Given the description of an element on the screen output the (x, y) to click on. 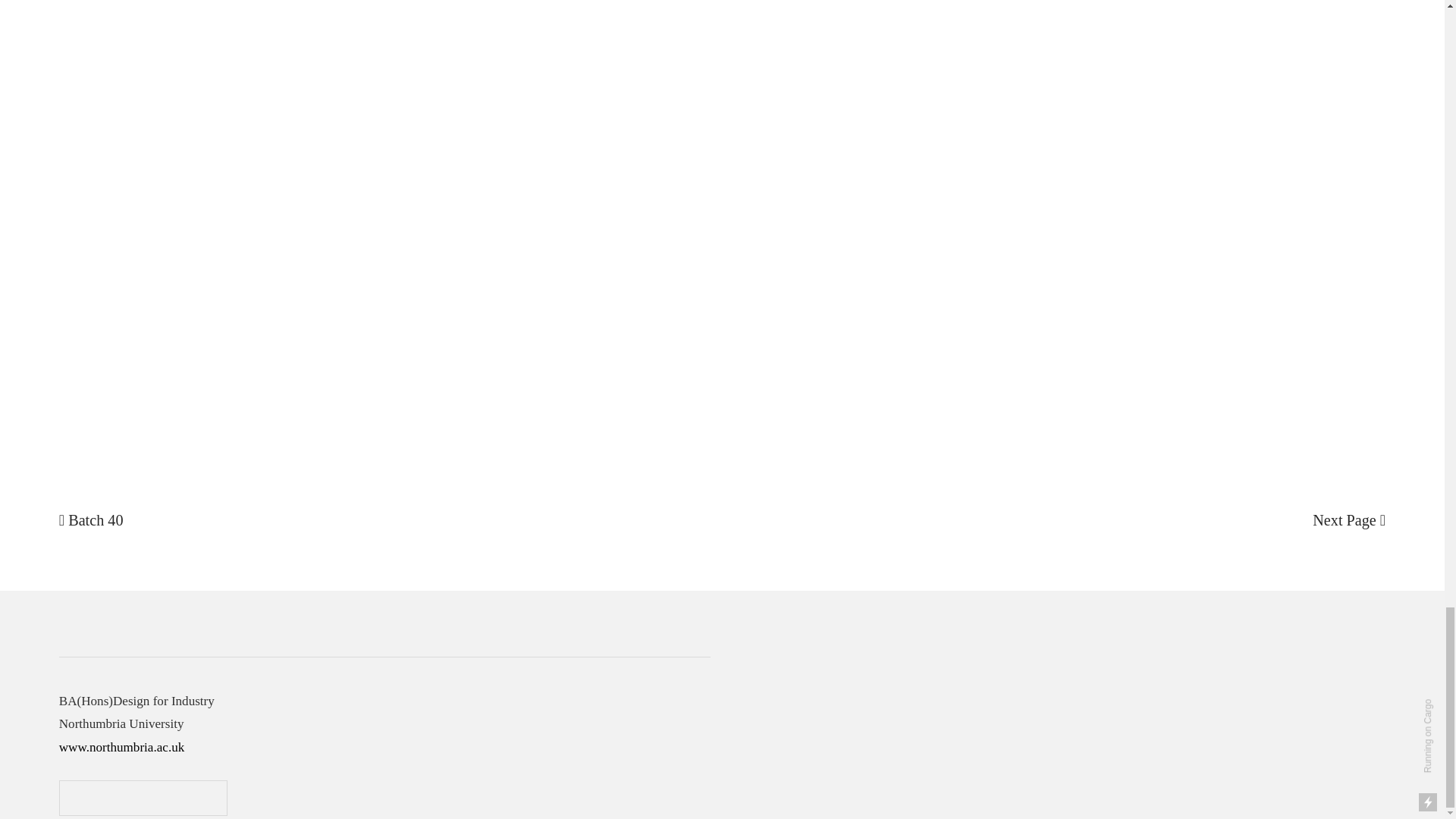
www.northumbria.ac.uk (121, 747)
